Given the description of an element on the screen output the (x, y) to click on. 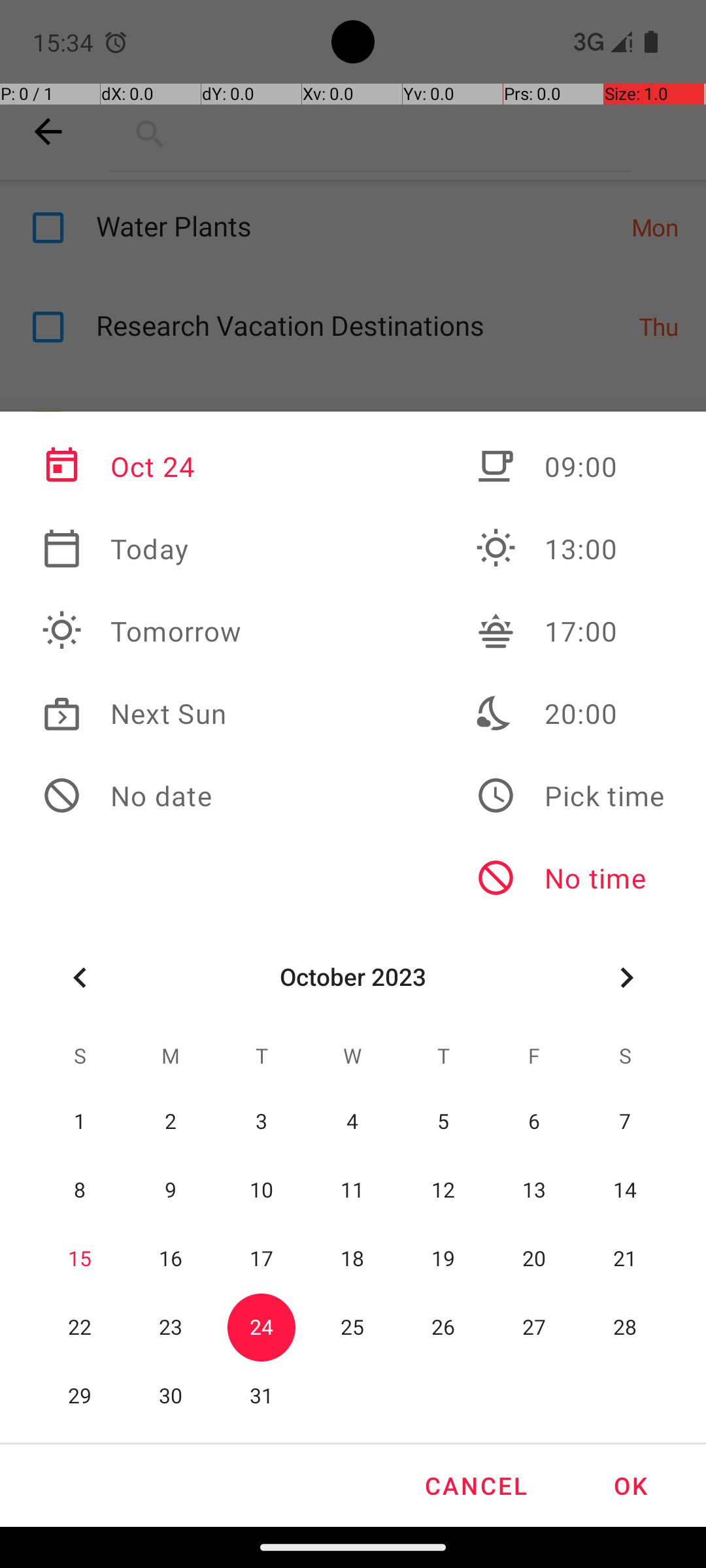
Oct 24 Element type: android.widget.CompoundButton (141, 466)
